Given the description of an element on the screen output the (x, y) to click on. 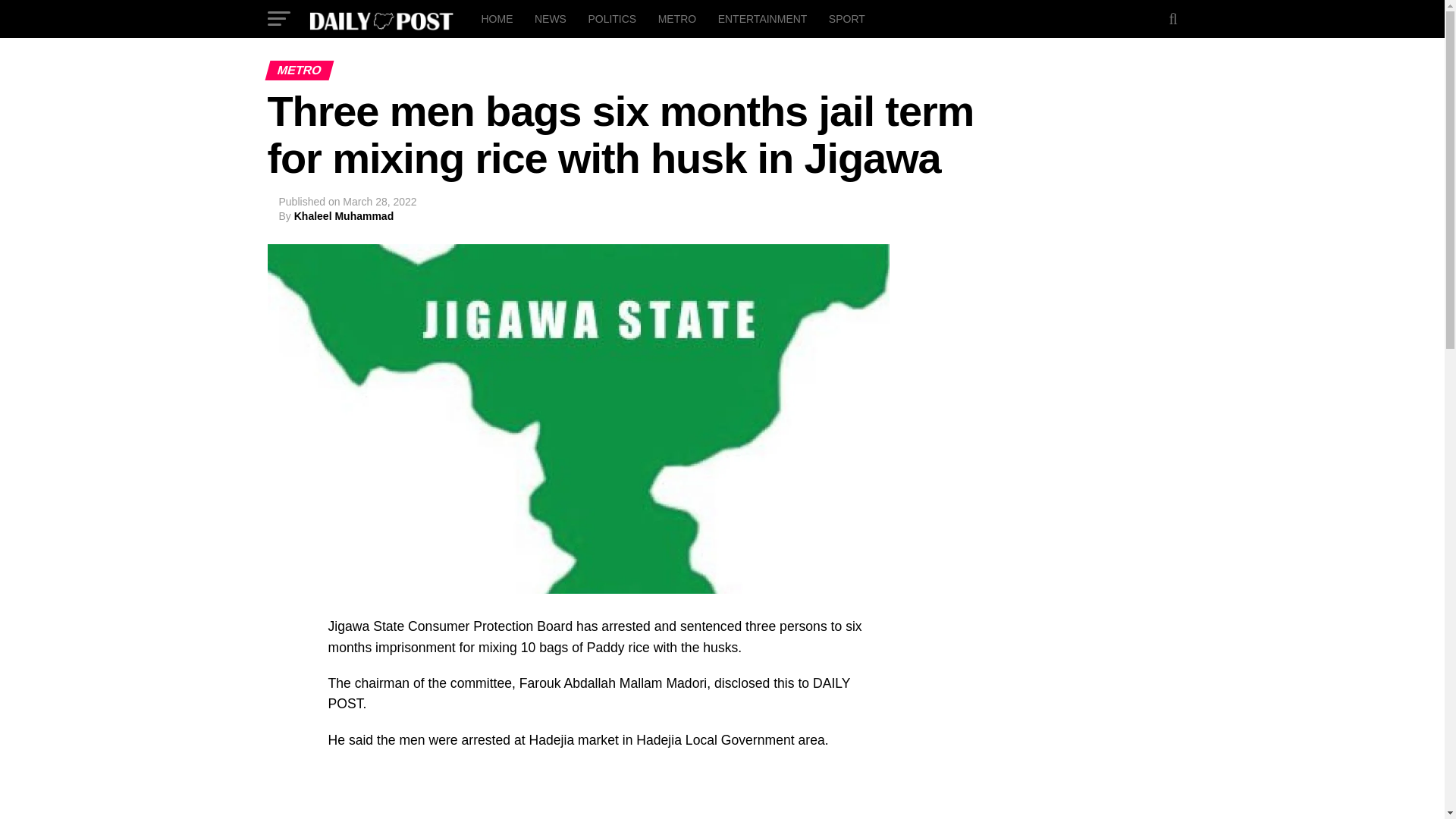
HOME (496, 18)
ENTERTAINMENT (762, 18)
METRO (677, 18)
Posts by Khaleel Muhammad (343, 215)
SPORT (847, 18)
POLITICS (611, 18)
Khaleel Muhammad (343, 215)
NEWS (550, 18)
